Given the description of an element on the screen output the (x, y) to click on. 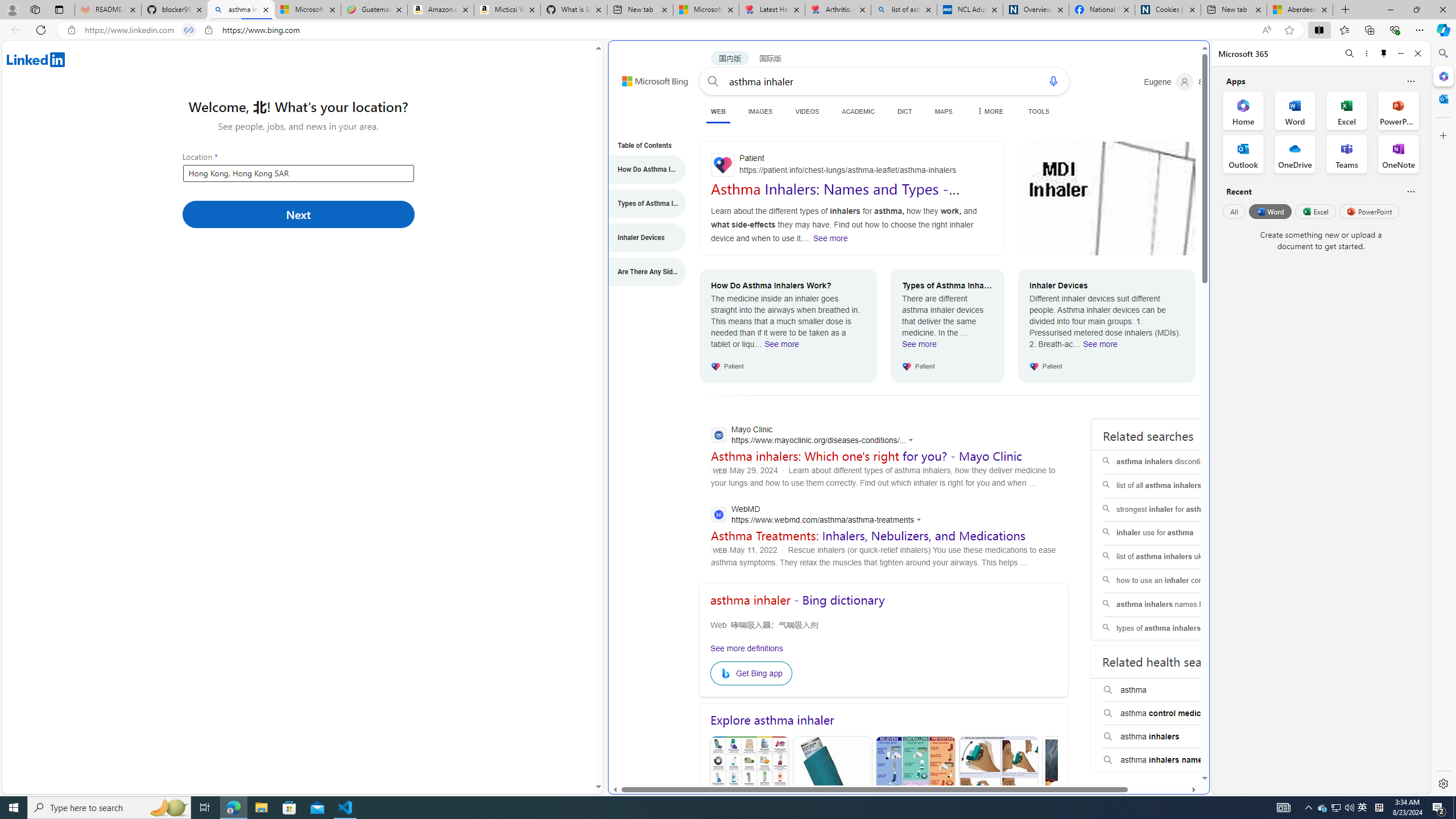
Types of Asthma Inhalers (640, 203)
TOOLS (1038, 111)
Microsoft Rewards 81 (1214, 81)
list of all asthma inhalers (1174, 485)
Inhaler Devices (640, 237)
how to use an inhaler correctly (1174, 580)
asthma control medicine (1174, 713)
Word (1269, 210)
